Given the description of an element on the screen output the (x, y) to click on. 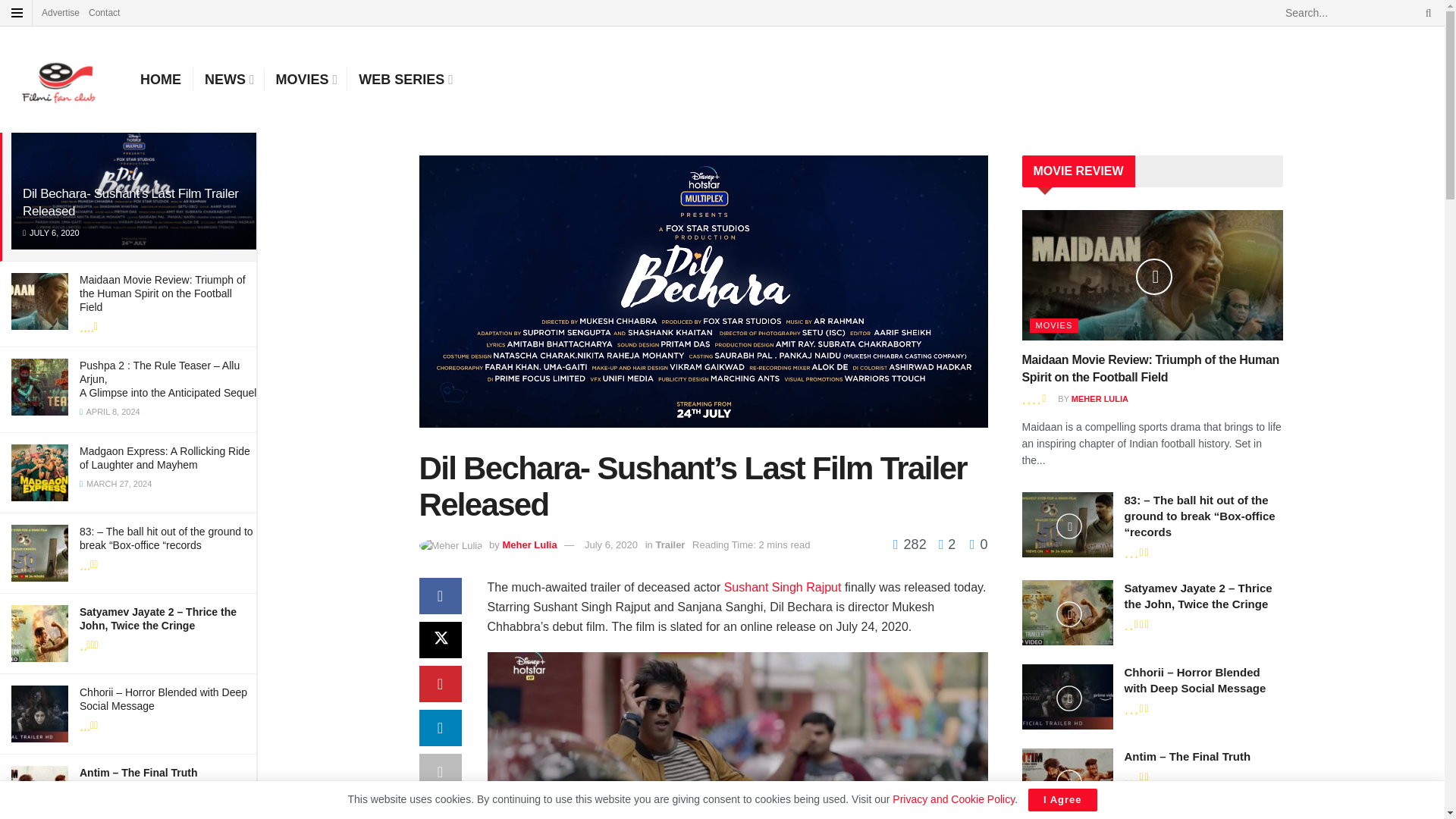
Advertise (61, 12)
Filter (227, 99)
Madgaon Express: A Rollicking Ride of Laughter and Mayhem (165, 457)
